Given the description of an element on the screen output the (x, y) to click on. 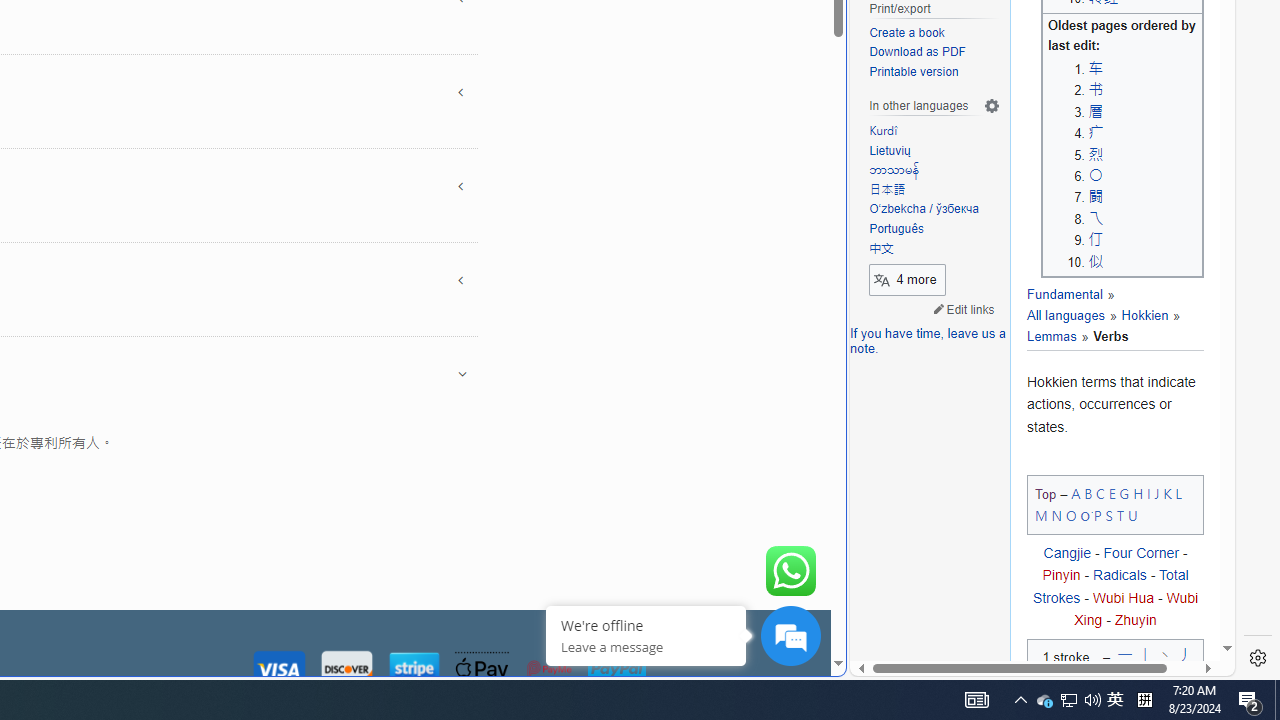
1 stroke (1065, 661)
O (1070, 515)
Wubi Hua (1122, 597)
4 more (907, 278)
E (1112, 492)
P (1097, 515)
